Given the description of an element on the screen output the (x, y) to click on. 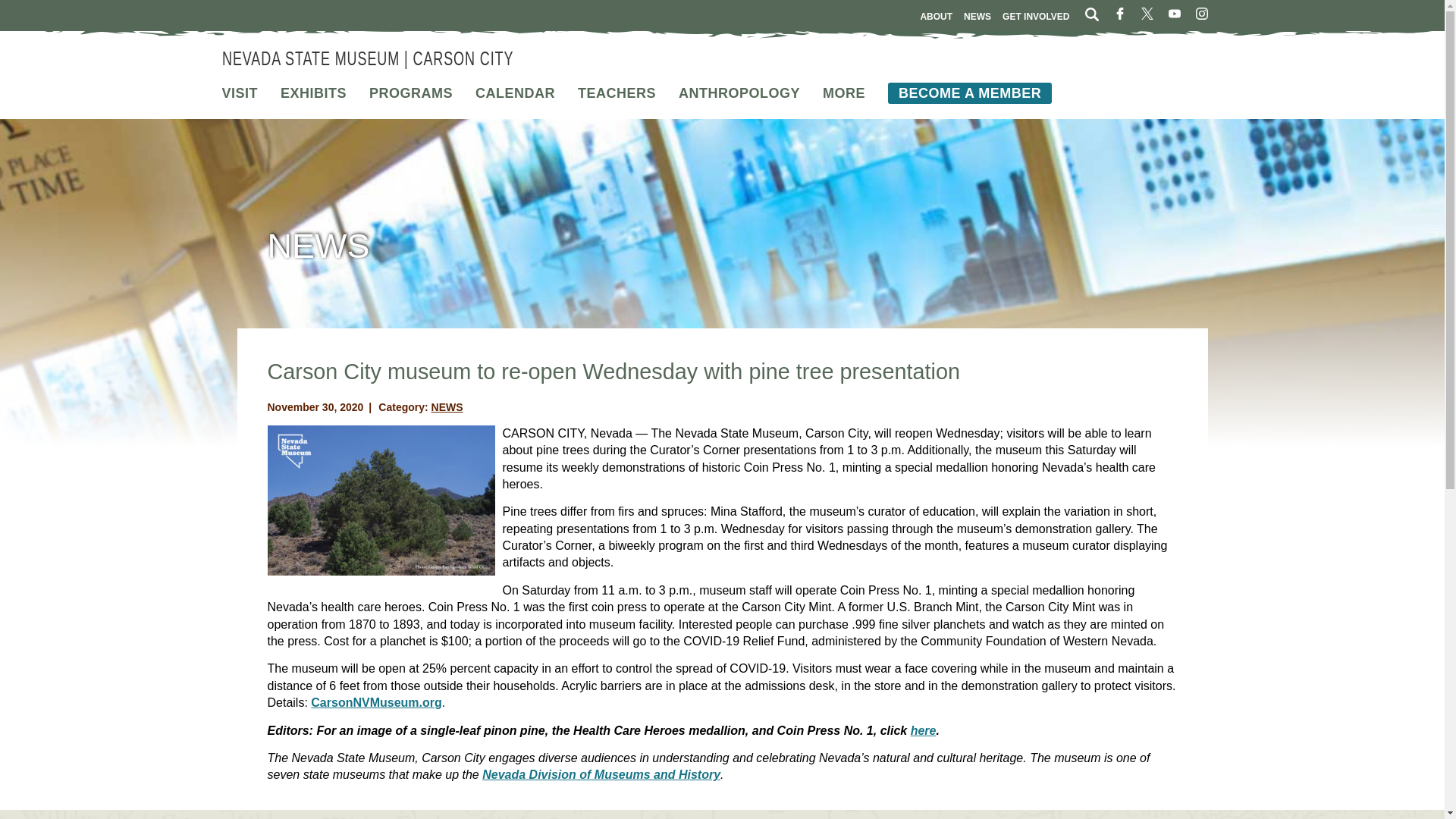
ABOUT (936, 15)
Nevada Division of Museums and History (600, 774)
TEACHERS (617, 92)
GET INVOLVED (1035, 15)
here (923, 730)
VISIT (239, 92)
PROGRAMS (410, 92)
NEWS (977, 15)
MORE (843, 92)
CarsonNVMuseum.org (376, 702)
BECOME A MEMBER (969, 92)
NEWS (446, 407)
CALENDAR (515, 92)
ANTHROPOLOGY (738, 92)
EXHIBITS (313, 92)
